Given the description of an element on the screen output the (x, y) to click on. 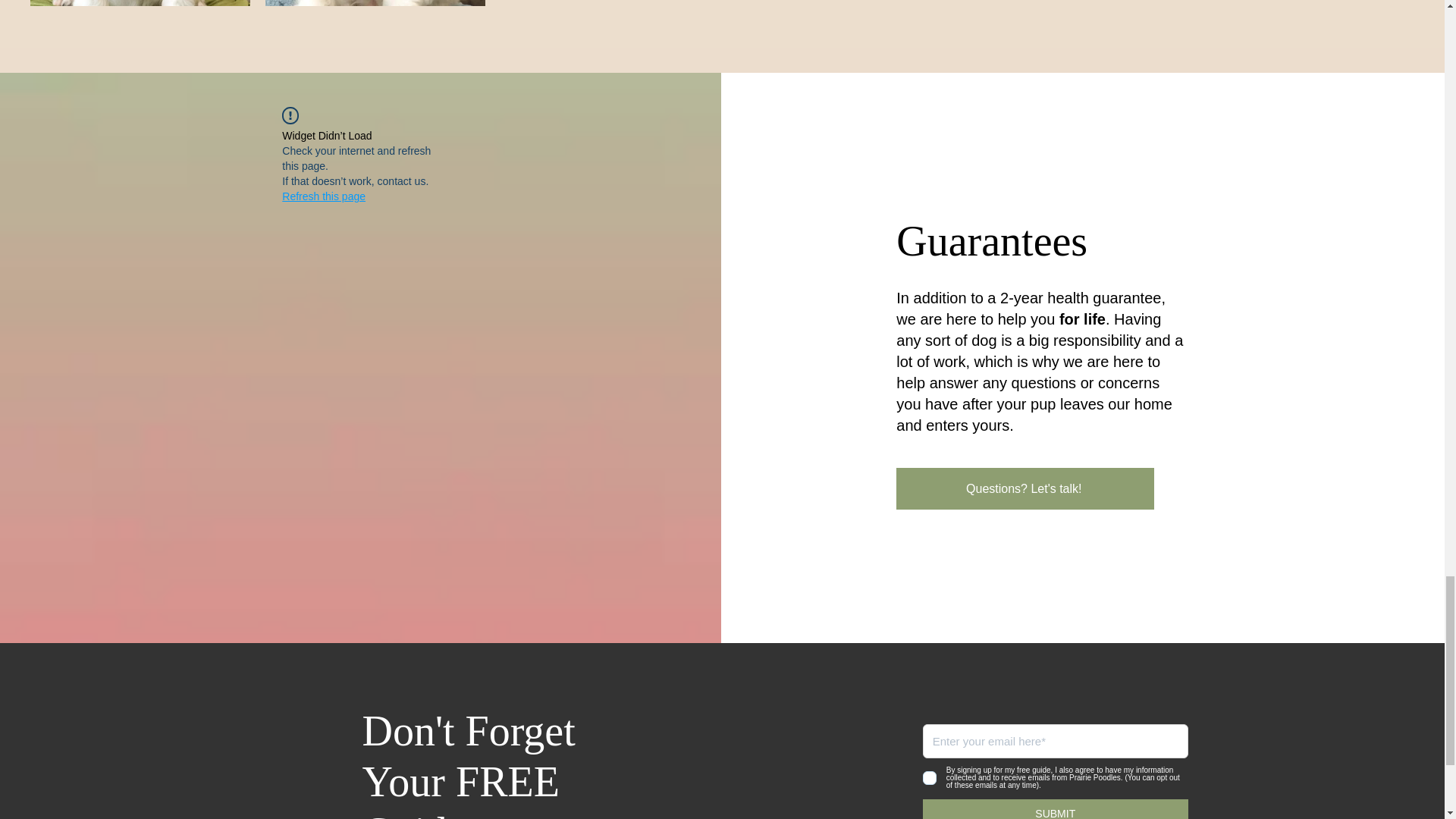
Questions? Let's talk! (1025, 488)
Refresh this page (323, 196)
SUBMIT (1055, 809)
